Given the description of an element on the screen output the (x, y) to click on. 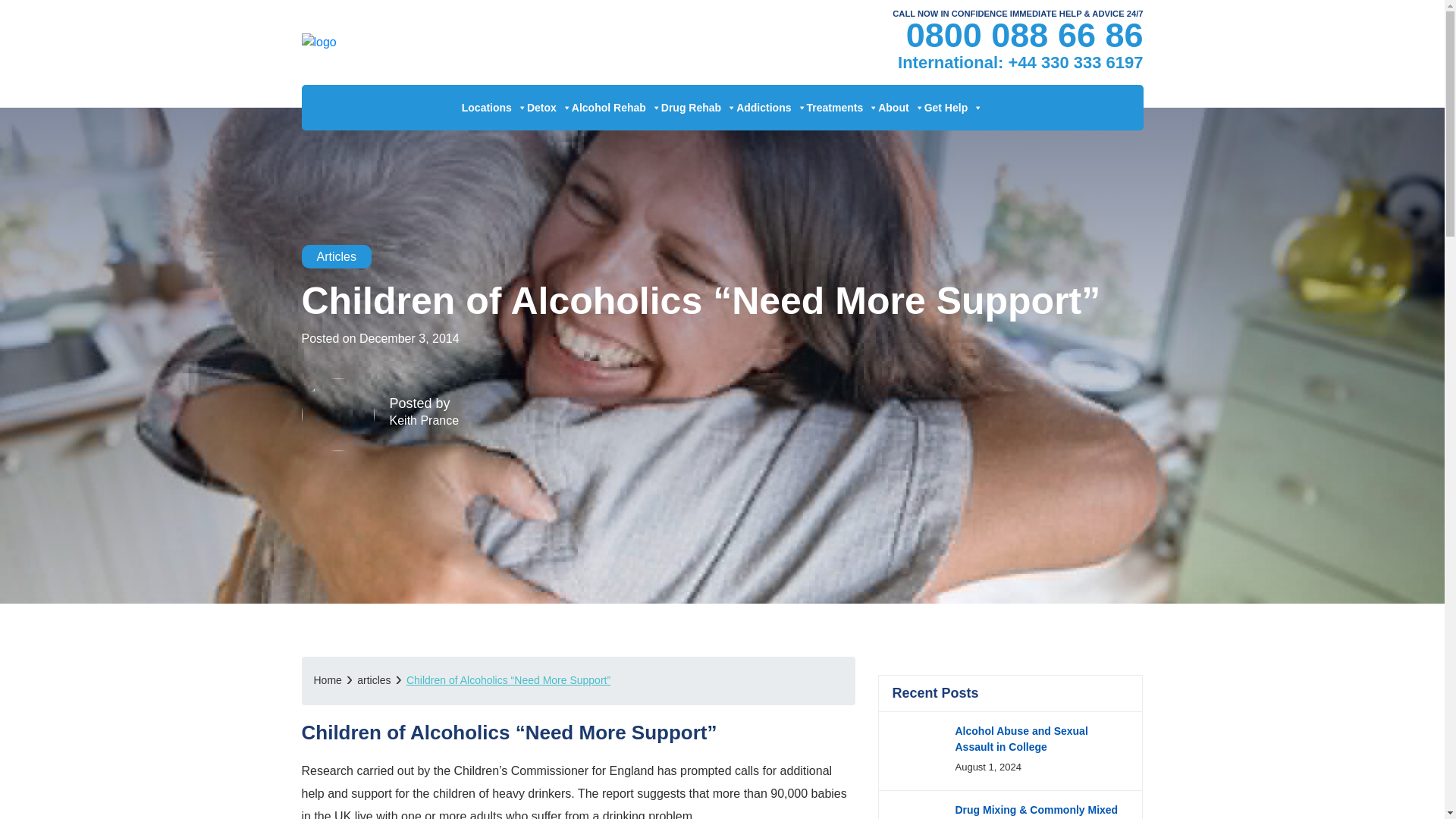
Detox (549, 107)
0800 088 66 86 (1023, 34)
Alcohol Abuse and Sexual Assault in College (1021, 738)
Locations (494, 107)
